Given the description of an element on the screen output the (x, y) to click on. 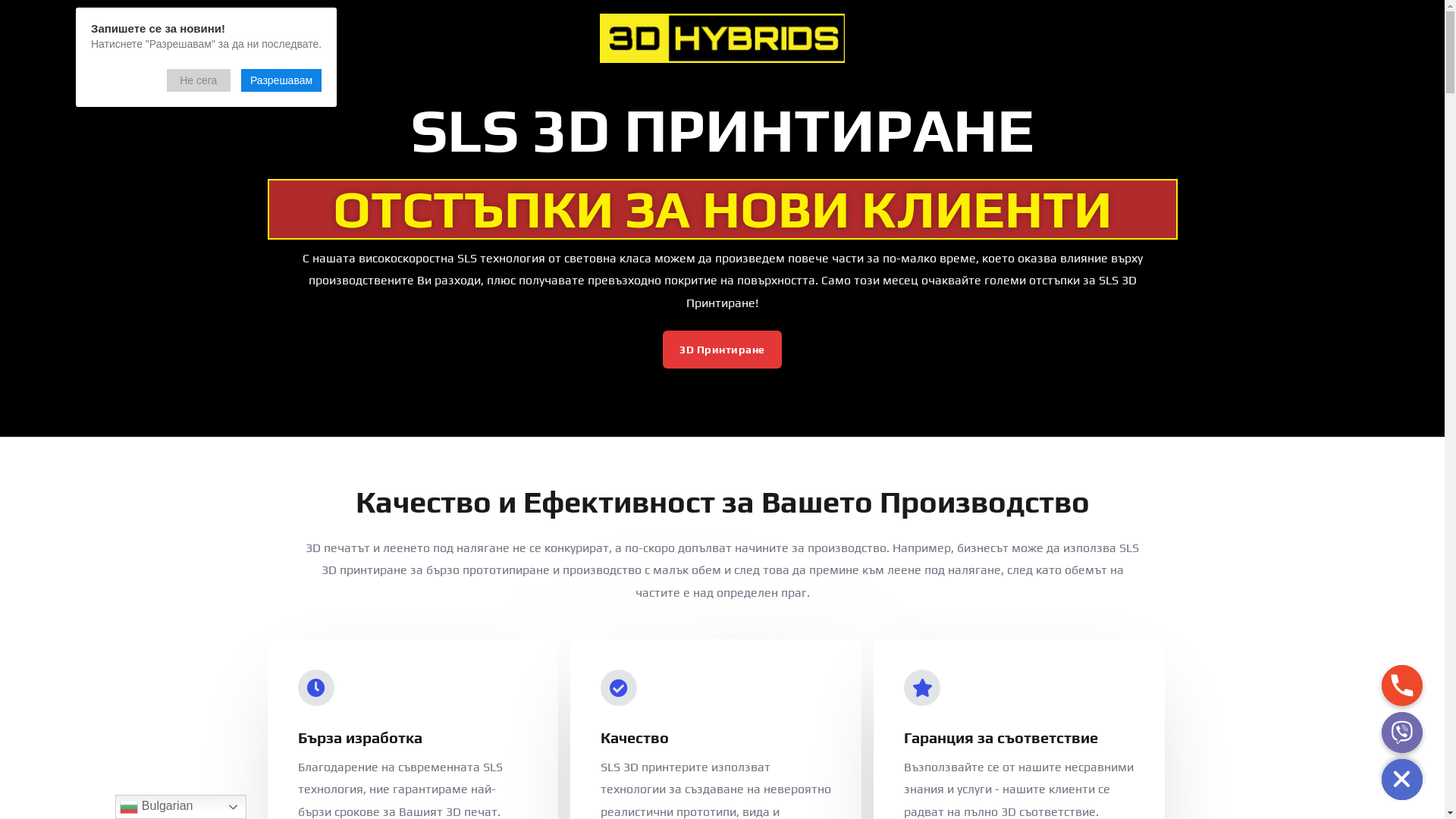
Hide Chaty Element type: text (1401, 779)
